Given the description of an element on the screen output the (x, y) to click on. 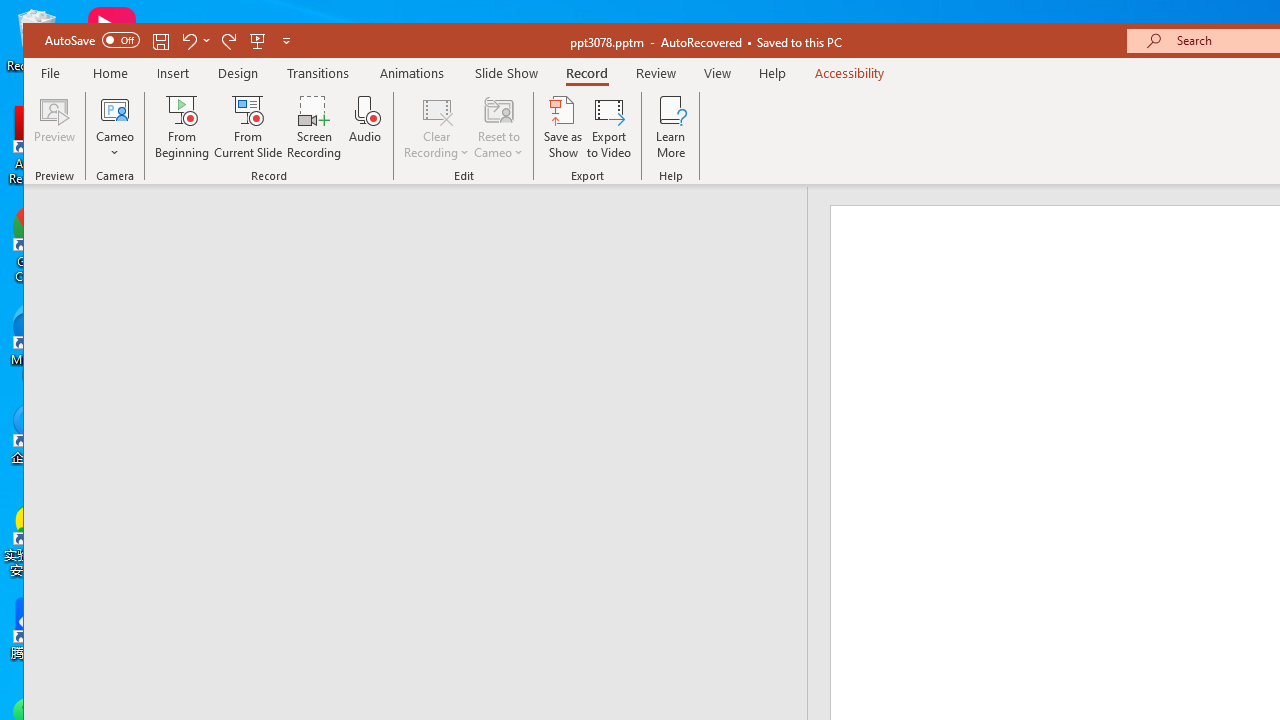
Outline (424, 226)
Reset to Cameo (499, 127)
Export to Video (608, 127)
Clear Recording (436, 127)
